Given the description of an element on the screen output the (x, y) to click on. 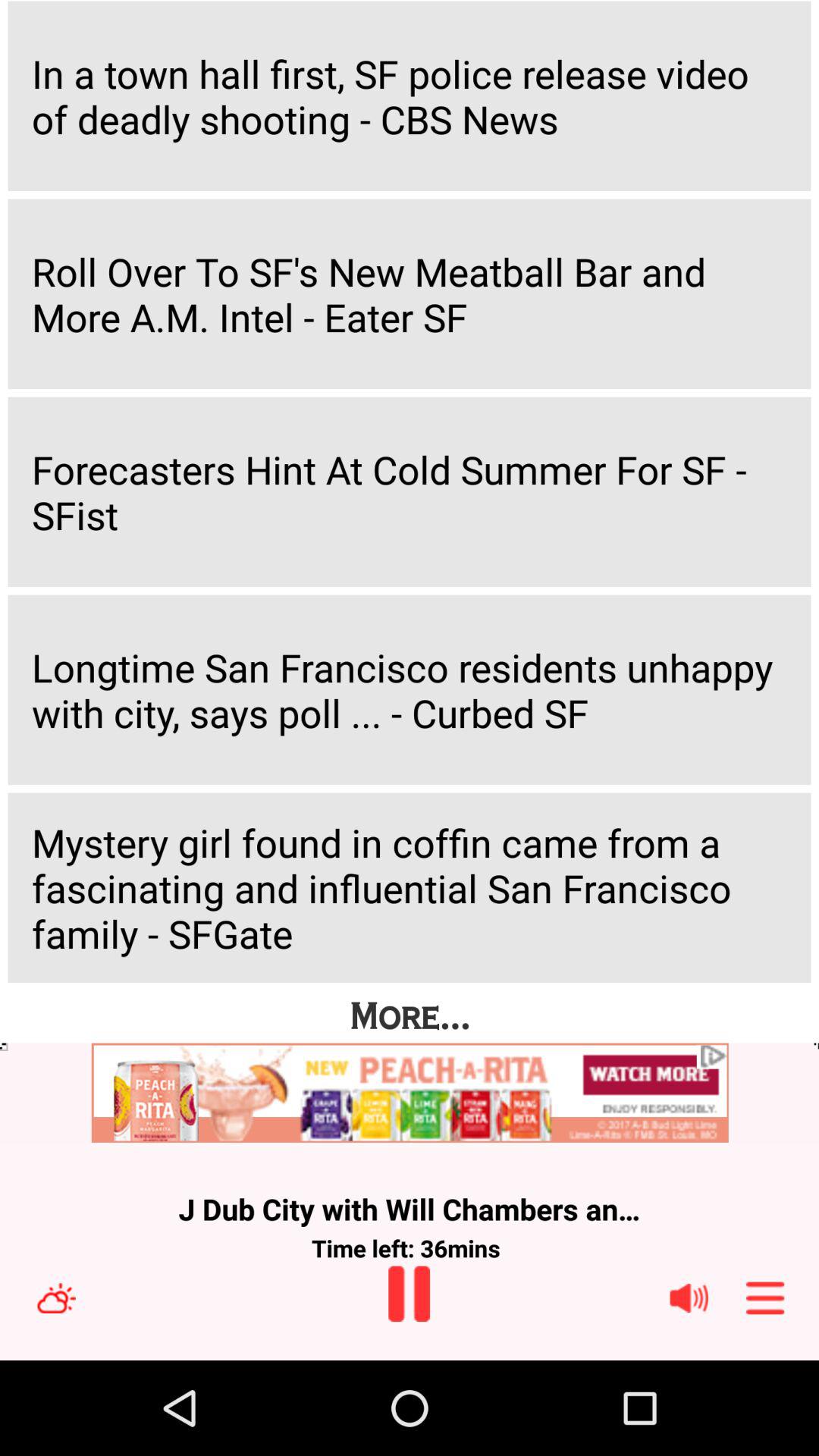
tap advertisement (409, 1093)
